Given the description of an element on the screen output the (x, y) to click on. 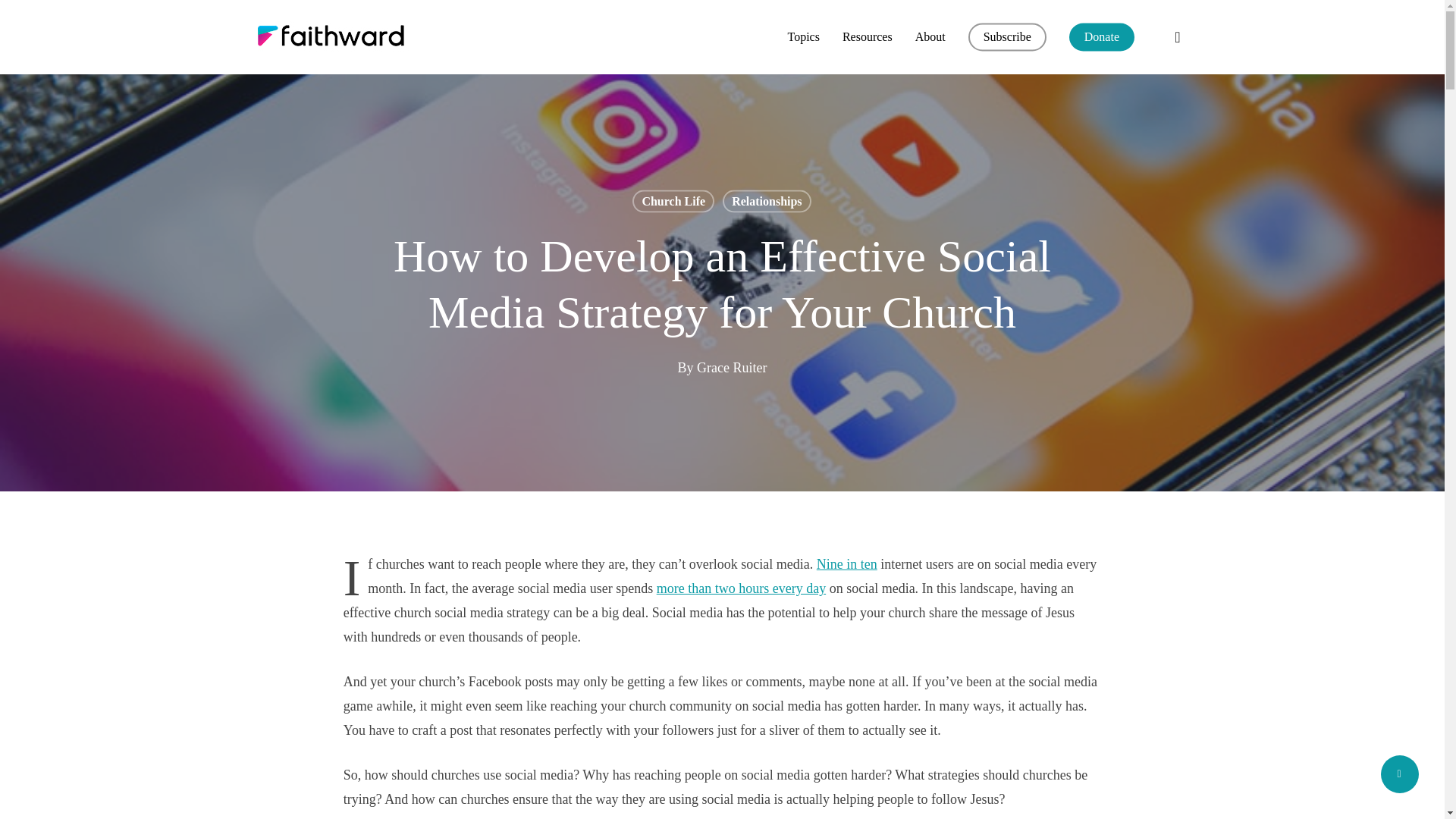
Church Life (672, 200)
Subscribe (1007, 36)
Nine in ten (846, 563)
search (1177, 36)
Donate (1101, 36)
more than two hours every day (740, 588)
Grace Ruiter (732, 366)
Relationships (766, 200)
Resources (867, 36)
Topics (802, 36)
About (929, 36)
